Given the description of an element on the screen output the (x, y) to click on. 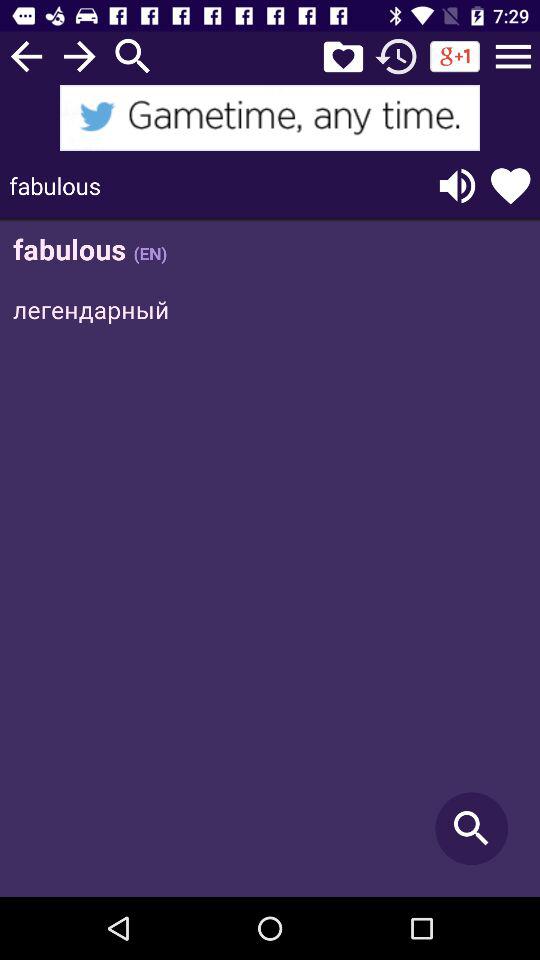
it is next page element (79, 56)
